Given the description of an element on the screen output the (x, y) to click on. 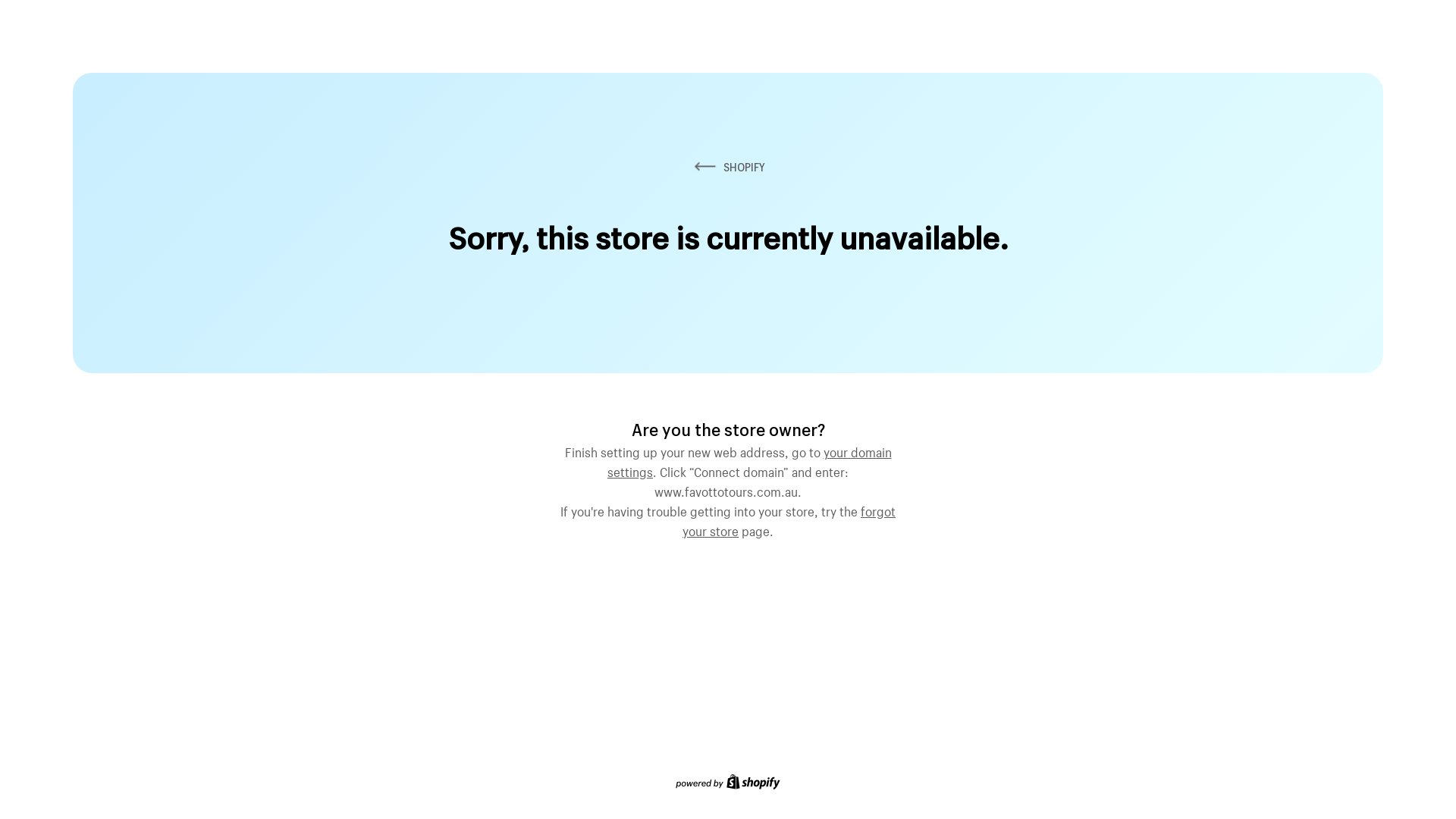
your domain settings Element type: text (749, 460)
SHOPIFY Element type: text (727, 167)
forgot your store Element type: text (788, 519)
